Given the description of an element on the screen output the (x, y) to click on. 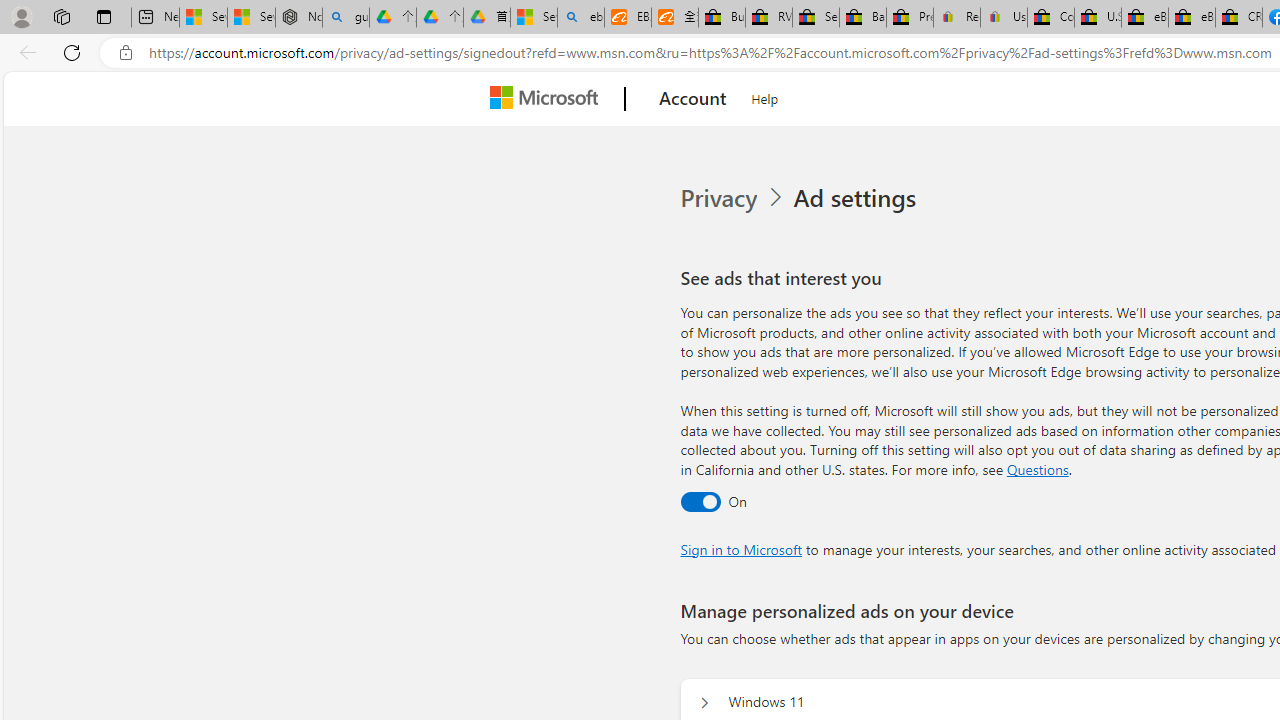
Sign in to Microsoft (740, 548)
User Privacy Notice | eBay (1003, 17)
Privacy (720, 197)
